Given the description of an element on the screen output the (x, y) to click on. 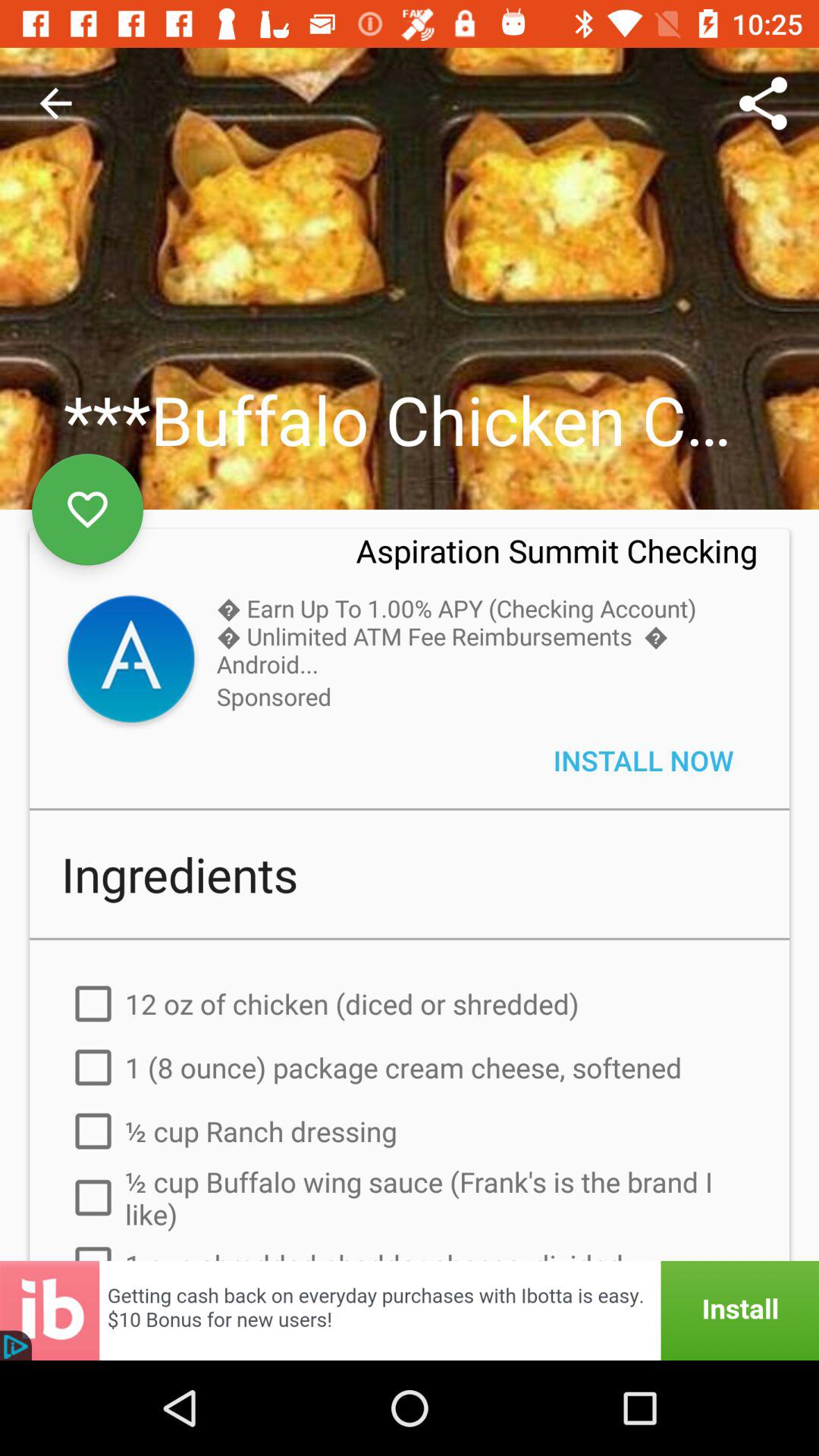
announcement (409, 1310)
